Given the description of an element on the screen output the (x, y) to click on. 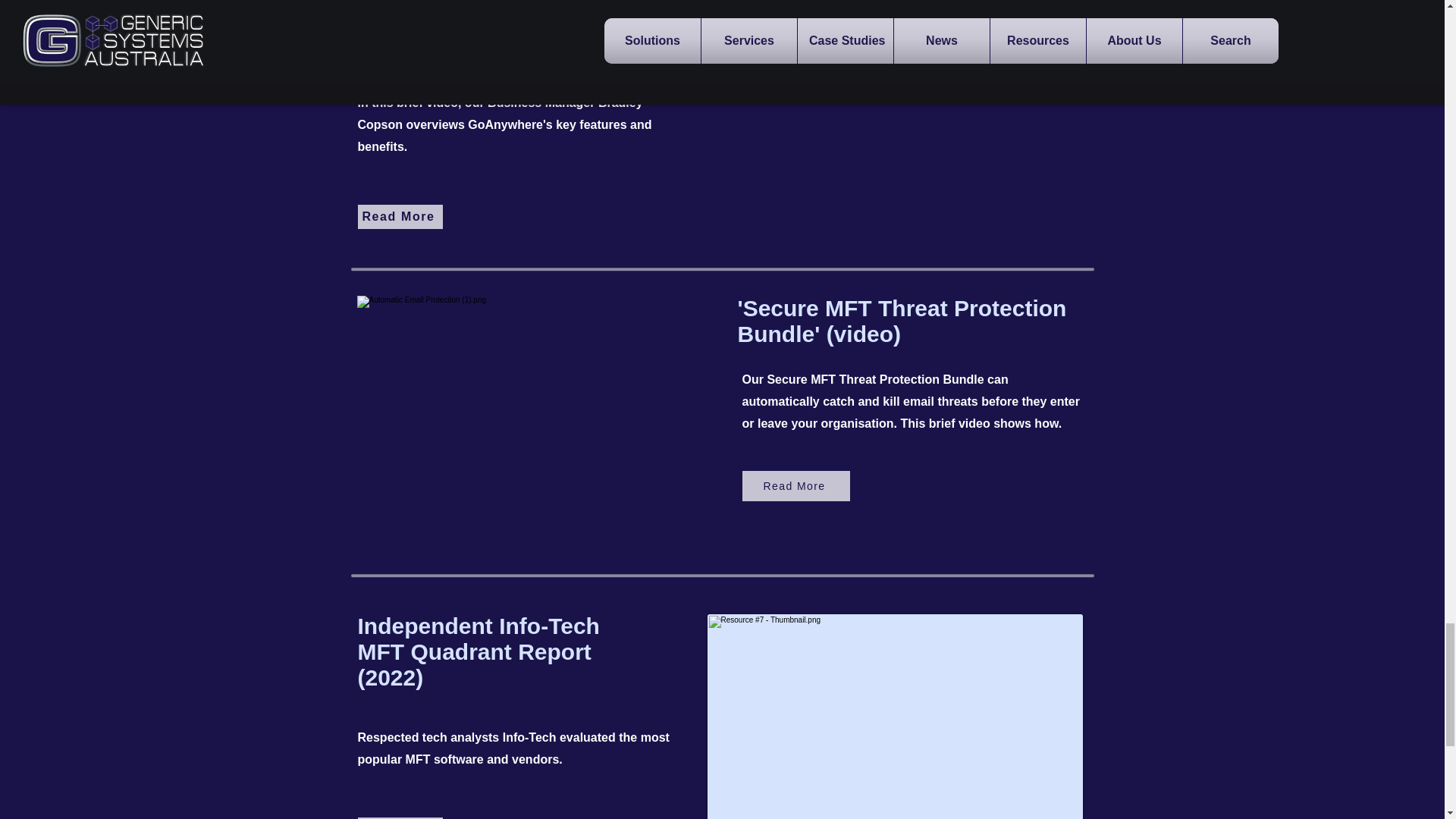
Read More (400, 818)
Read More (794, 485)
Read More (400, 216)
